Given the description of an element on the screen output the (x, y) to click on. 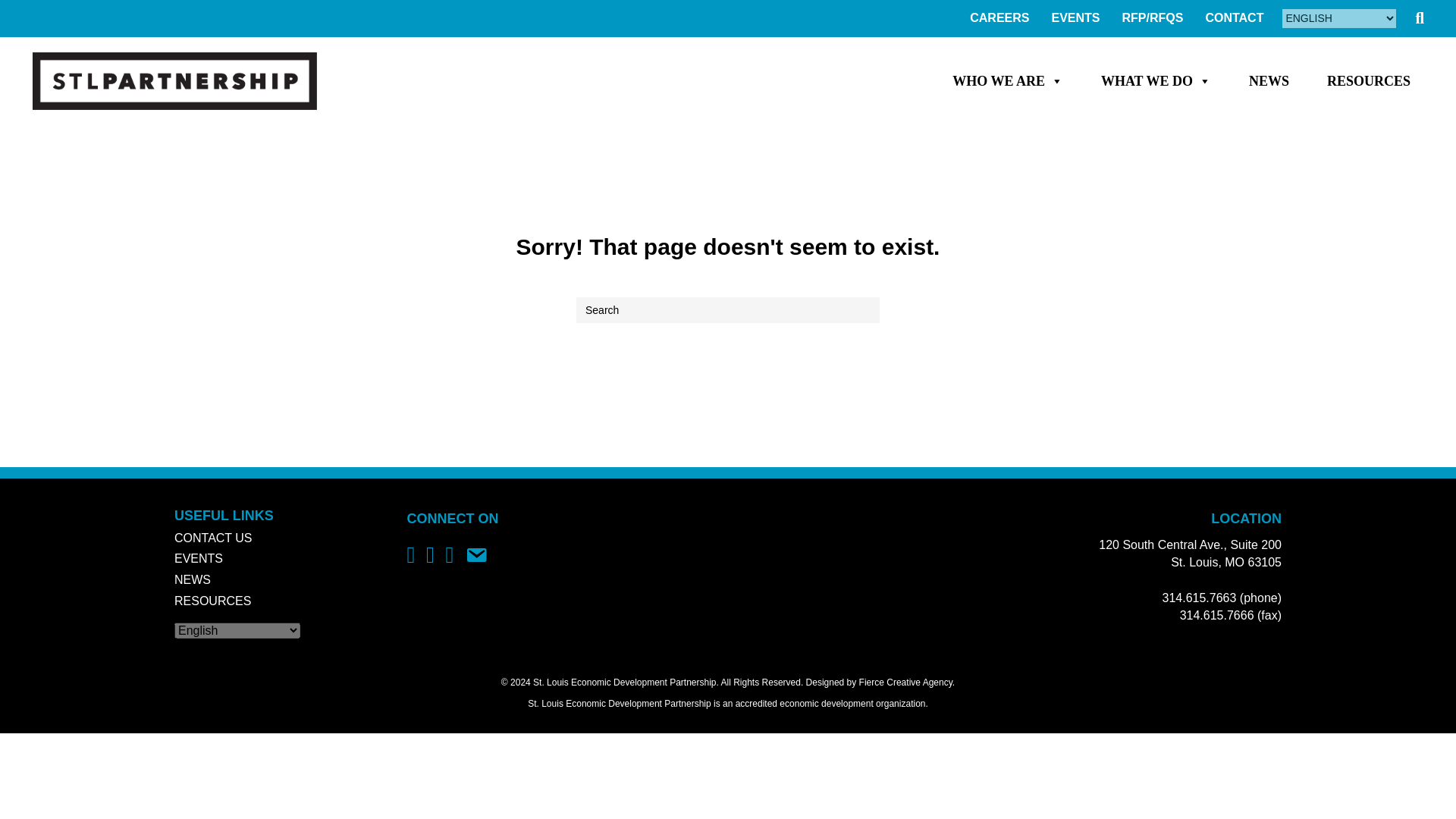
RESOURCES (212, 600)
CONTACT (1233, 18)
NEWS (1269, 81)
CAREERS (999, 18)
SEARCH (1423, 18)
CONTACT US (212, 537)
Type and press Enter to search. (727, 309)
Fierce Creative Agency (905, 682)
EVENTS (198, 558)
NEWS (192, 579)
314.615.7663 (1198, 597)
WHO WE ARE (1007, 81)
EVENTS (1075, 18)
RESOURCES (1368, 81)
WHAT WE DO (1155, 81)
